Given the description of an element on the screen output the (x, y) to click on. 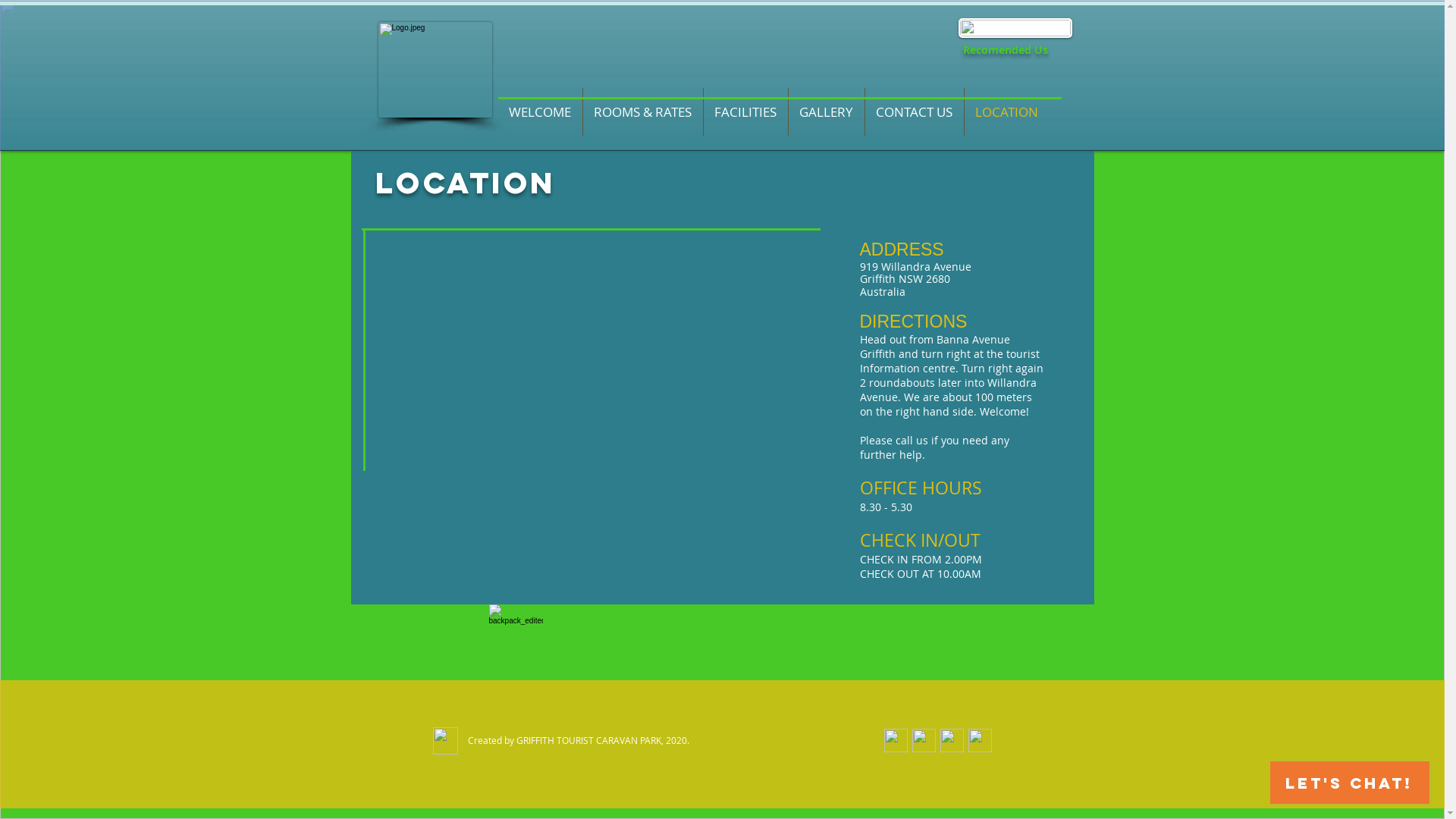
GALLERY Element type: text (826, 111)
ROOMS & RATES Element type: text (642, 111)
Google Maps Element type: hover (609, 366)
CONTACT US Element type: text (913, 111)
FACILITIES Element type: text (745, 111)
LOCATION Element type: text (1006, 111)
WELCOME Element type: text (539, 111)
